Given the description of an element on the screen output the (x, y) to click on. 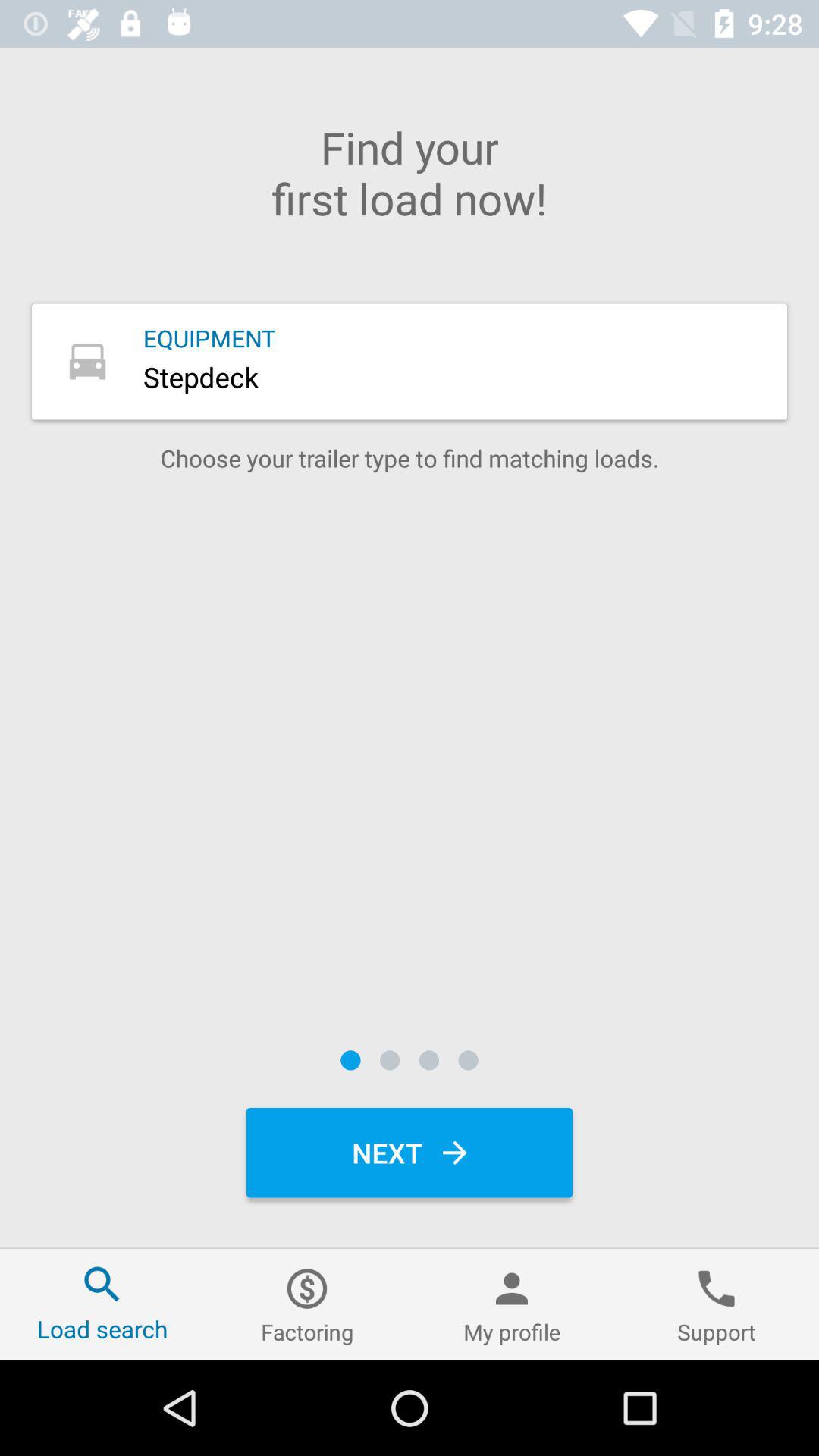
turn off support at the bottom right corner (716, 1304)
